Given the description of an element on the screen output the (x, y) to click on. 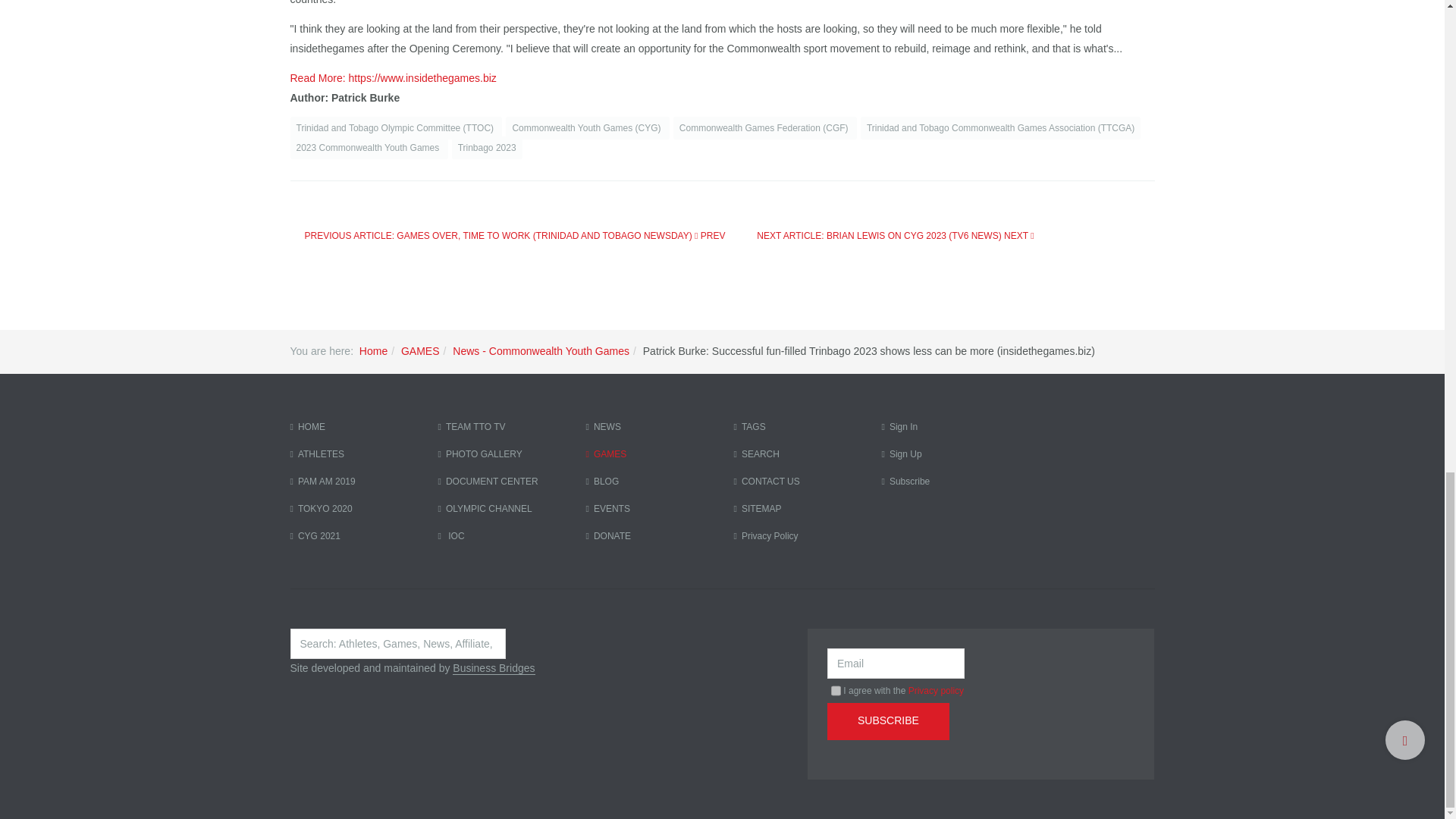
Terms and conditions (836, 690)
Subscribe (888, 721)
on (836, 690)
Business Bridges (493, 667)
